Given the description of an element on the screen output the (x, y) to click on. 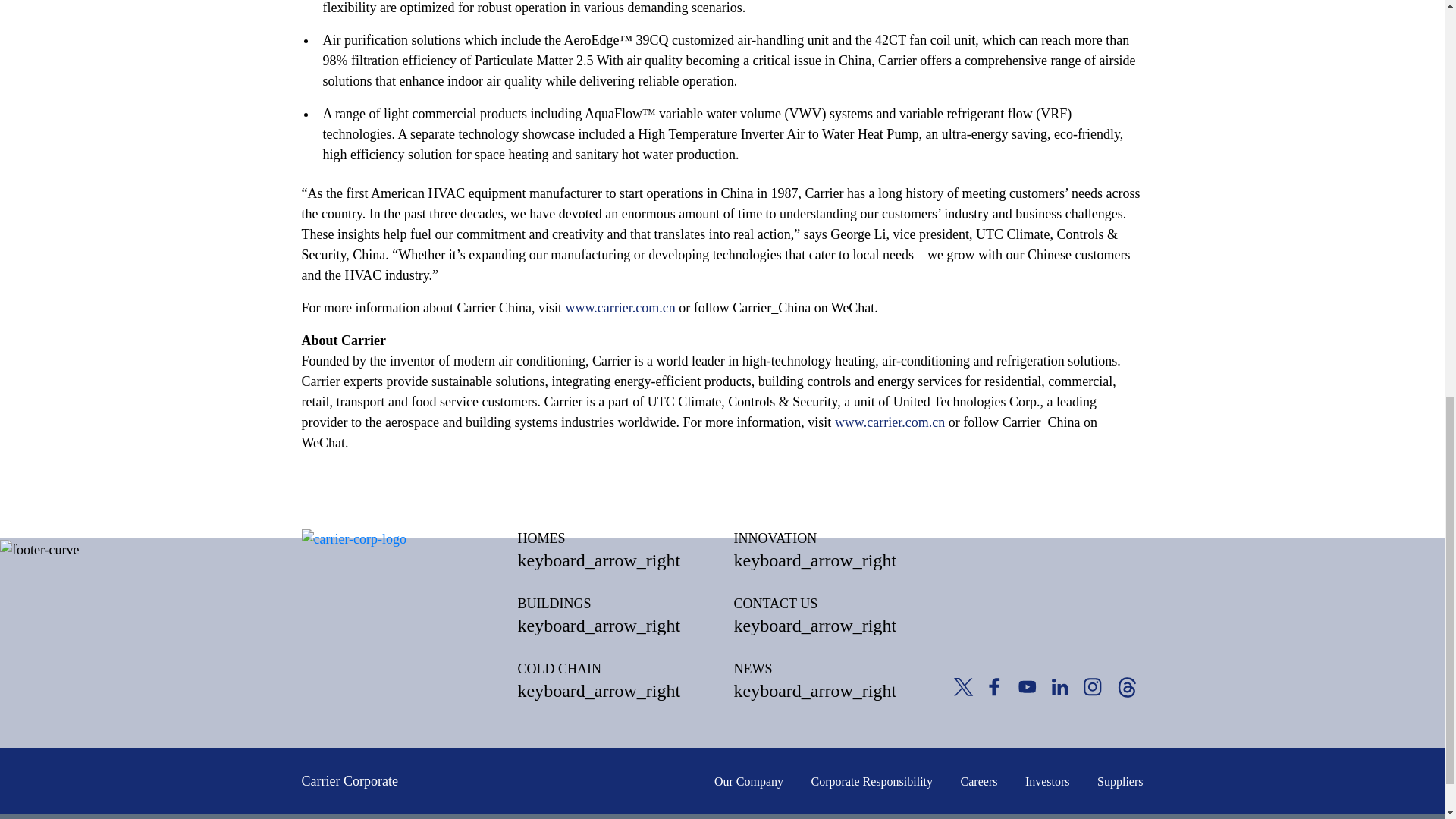
www.carrier.com.cn (889, 421)
www.carrier.com.cn (619, 307)
